Given the description of an element on the screen output the (x, y) to click on. 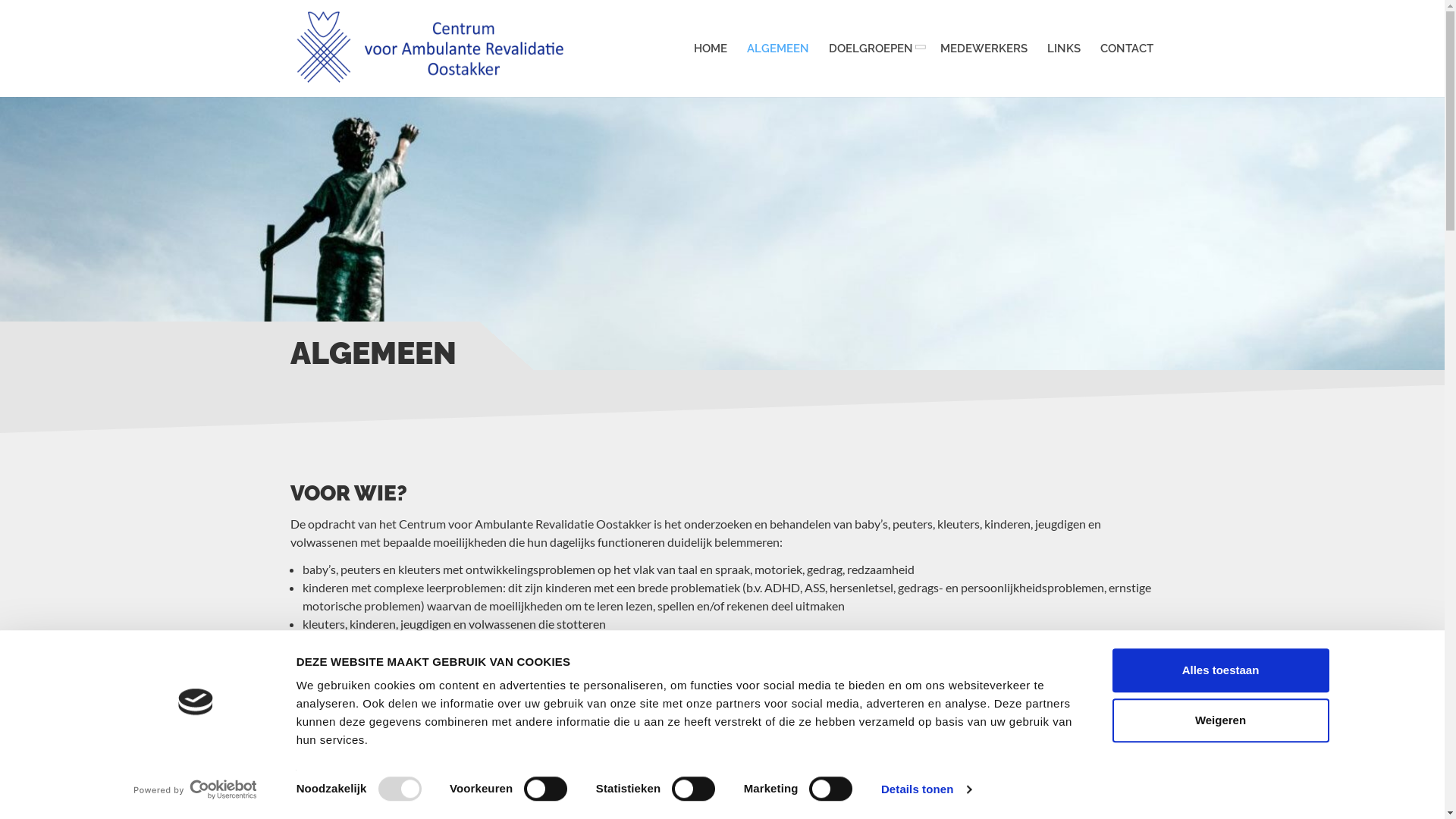
Details tonen Element type: text (926, 789)
Alles toestaan Element type: text (1219, 670)
DOELGROEPEN Element type: text (874, 47)
MEDEWERKERS Element type: text (982, 47)
ALGEMEEN Element type: text (778, 47)
Weigeren Element type: text (1219, 720)
CONTACT Element type: text (1126, 47)
HOME Element type: text (710, 47)
LINKS Element type: text (1063, 47)
